Given the description of an element on the screen output the (x, y) to click on. 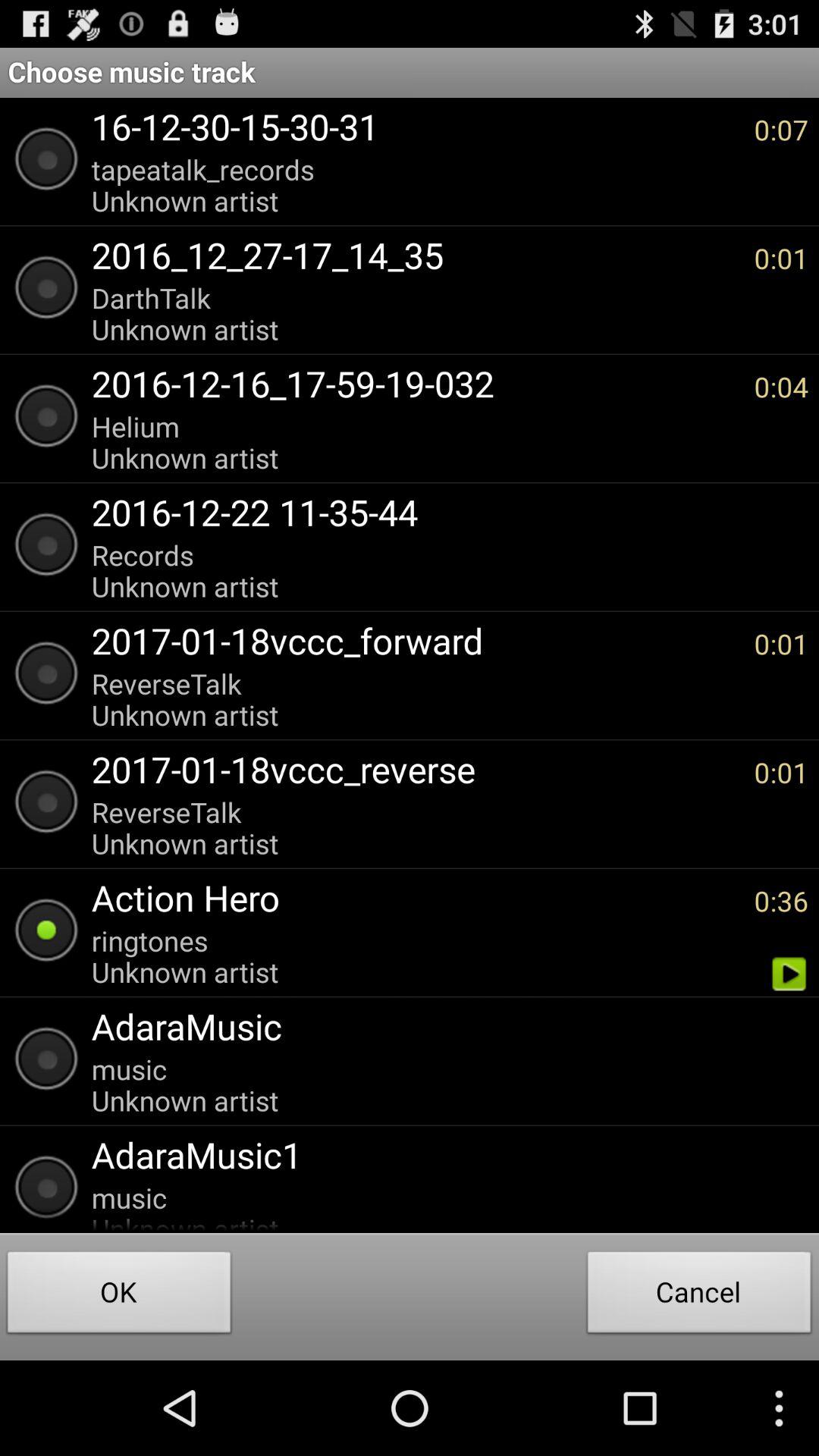
choose cancel item (699, 1296)
